Given the description of an element on the screen output the (x, y) to click on. 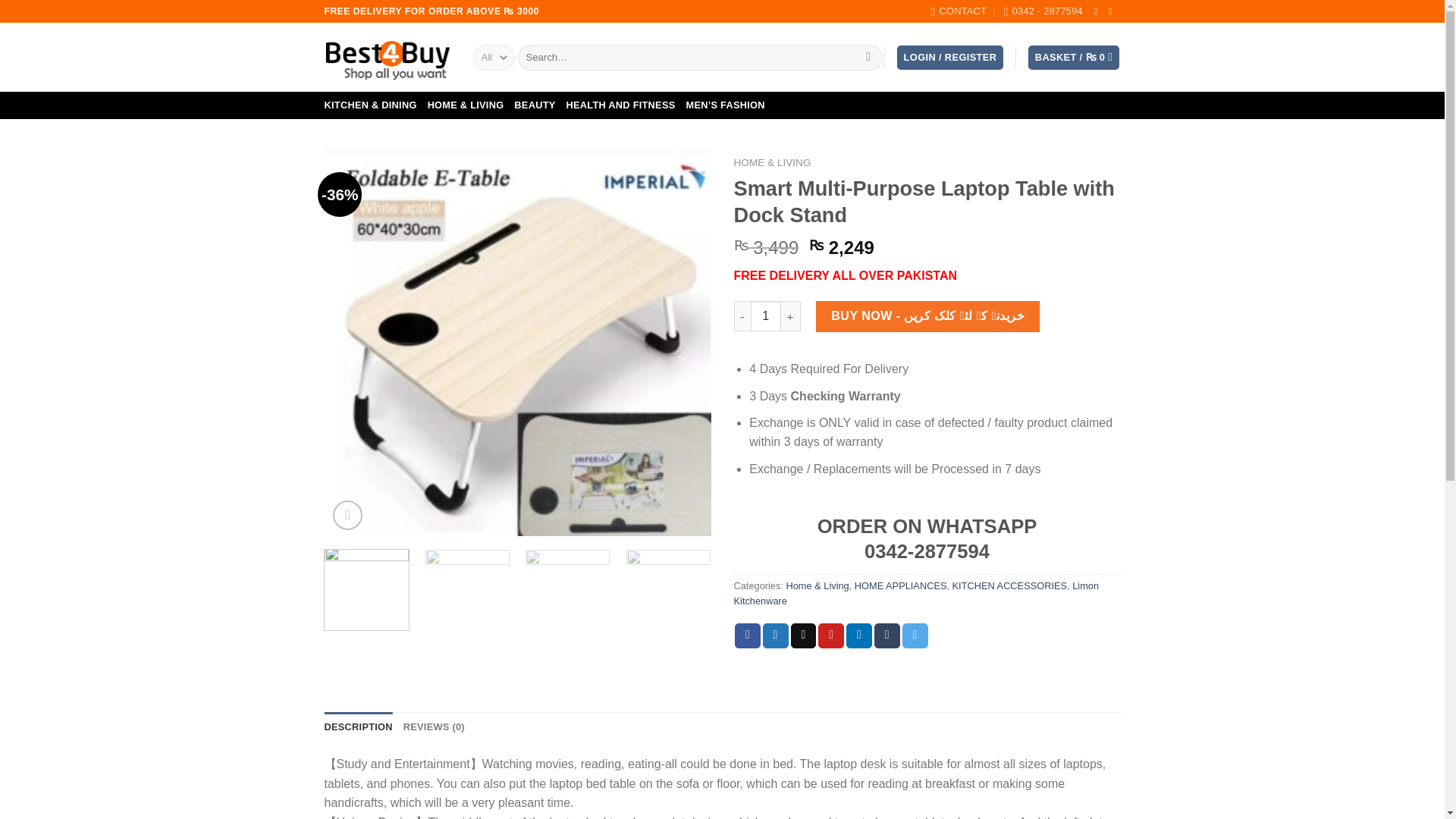
HEALTH AND FITNESS (620, 104)
1 (765, 316)
BEAUTY (533, 104)
Share on Facebook (747, 636)
Limon Kitchenware (916, 592)
Share on Twitter (775, 636)
Search (868, 57)
Share on Telegram (915, 636)
best4buy - Shop all you want (386, 57)
HOME APPLIANCES (900, 585)
Zoom (347, 514)
Share on LinkedIn (858, 636)
Pin on Pinterest (831, 636)
Basket (1073, 57)
KITCHEN ACCESSORIES (1009, 585)
